Given the description of an element on the screen output the (x, y) to click on. 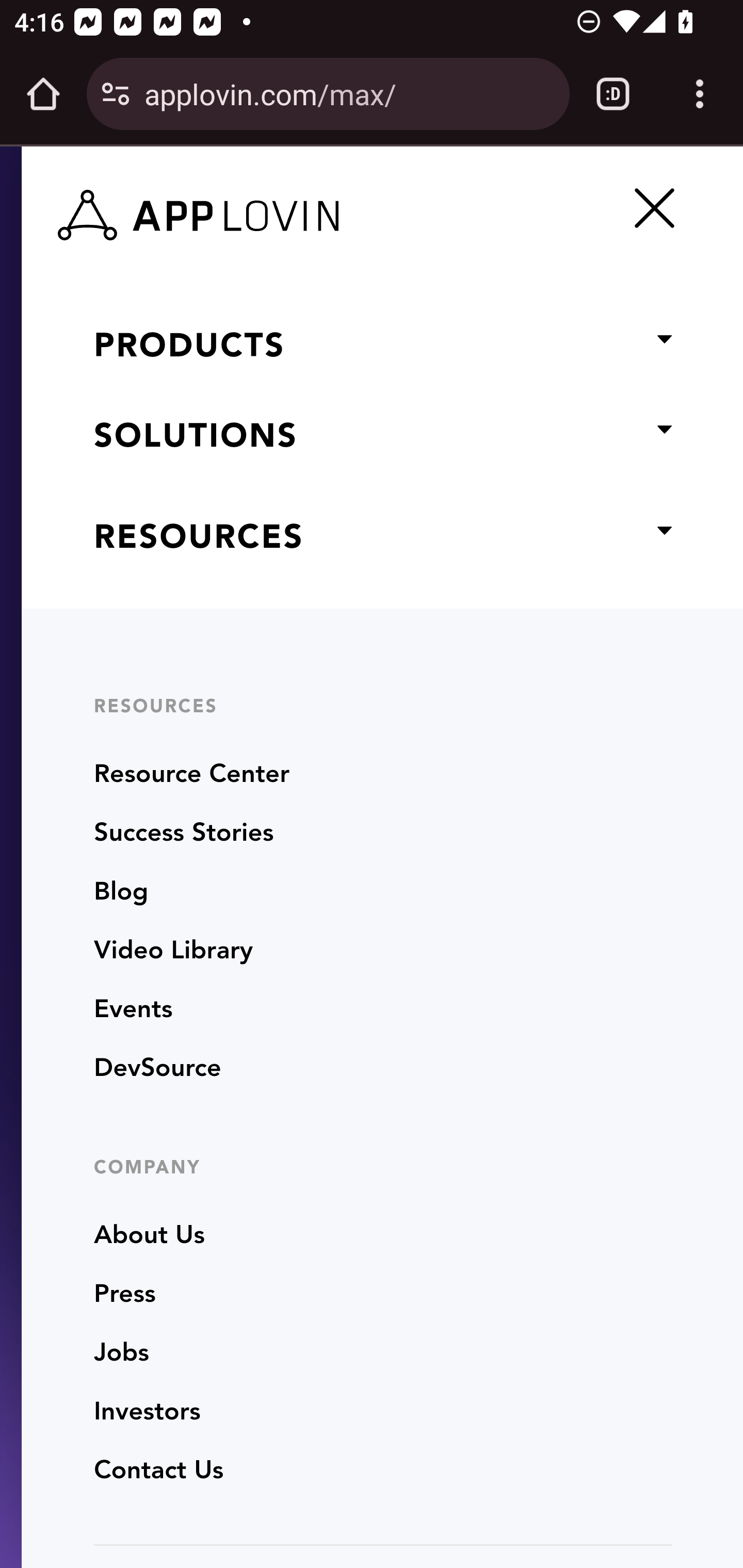
Open the home page (43, 93)
Connection is secure (115, 93)
Switch or close tabs (612, 93)
Customize and control Google Chrome (699, 93)
applovin.com/max/ (349, 92)
Menu Trigger (650, 207)
www.applovin (220, 209)
